Given the description of an element on the screen output the (x, y) to click on. 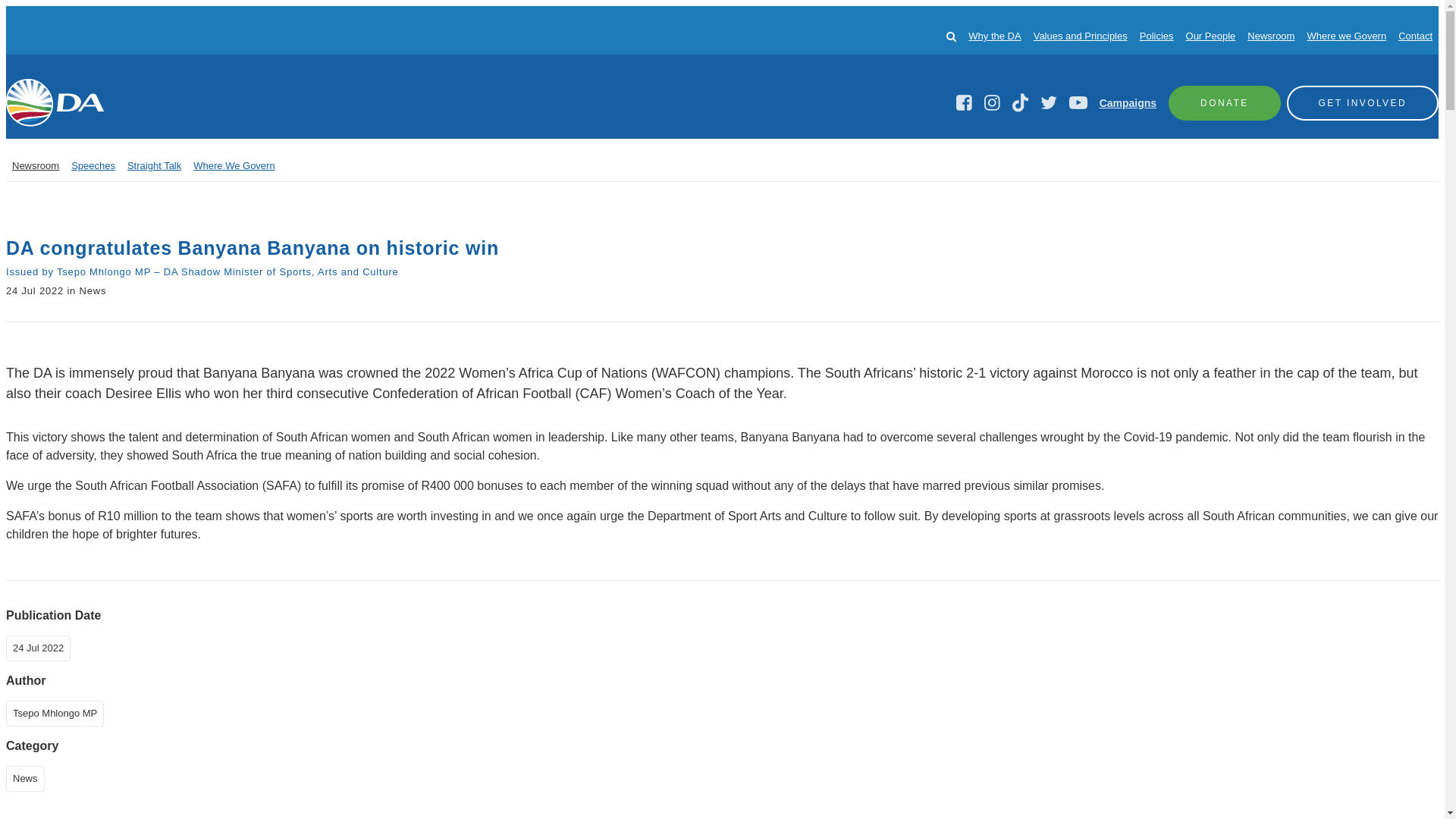
Where We Govern (234, 165)
Our People (1211, 35)
DONATE (1225, 102)
Newsroom (1270, 35)
Why the DA (994, 35)
Straight Talk (154, 165)
Speeches (93, 165)
Campaigns (1127, 102)
Newsroom (35, 165)
Where we Govern (1346, 35)
Policies (1156, 35)
Democratic Alliance Logo (54, 102)
News (27, 777)
DONATE (1225, 101)
Values and Principles (1079, 35)
